Given the description of an element on the screen output the (x, y) to click on. 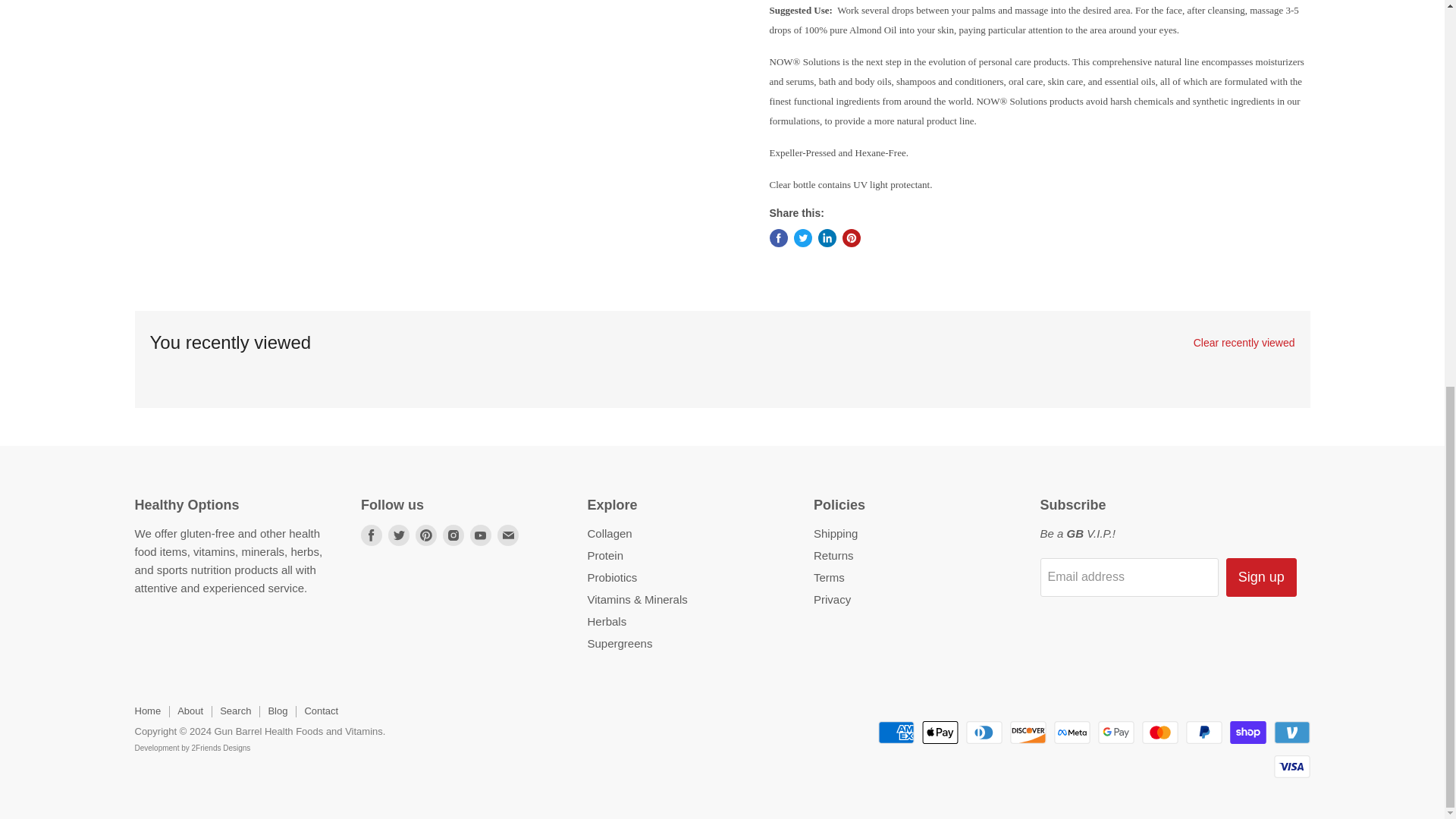
Instagram (453, 535)
Email (507, 535)
Pinterest (425, 535)
Youtube (481, 535)
Facebook (371, 535)
Twitter (398, 535)
